Given the description of an element on the screen output the (x, y) to click on. 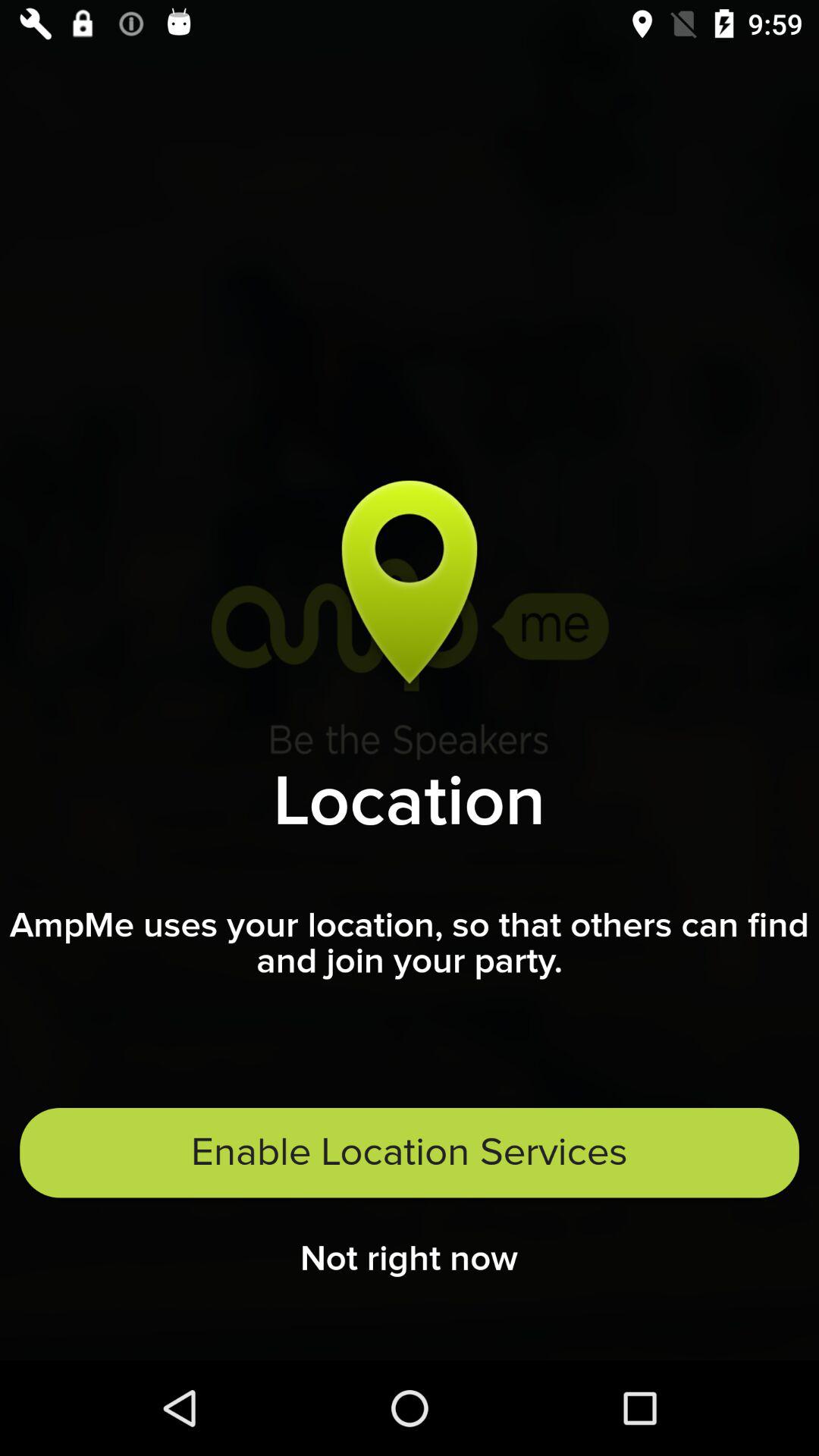
flip to enable location services icon (409, 1152)
